Given the description of an element on the screen output the (x, y) to click on. 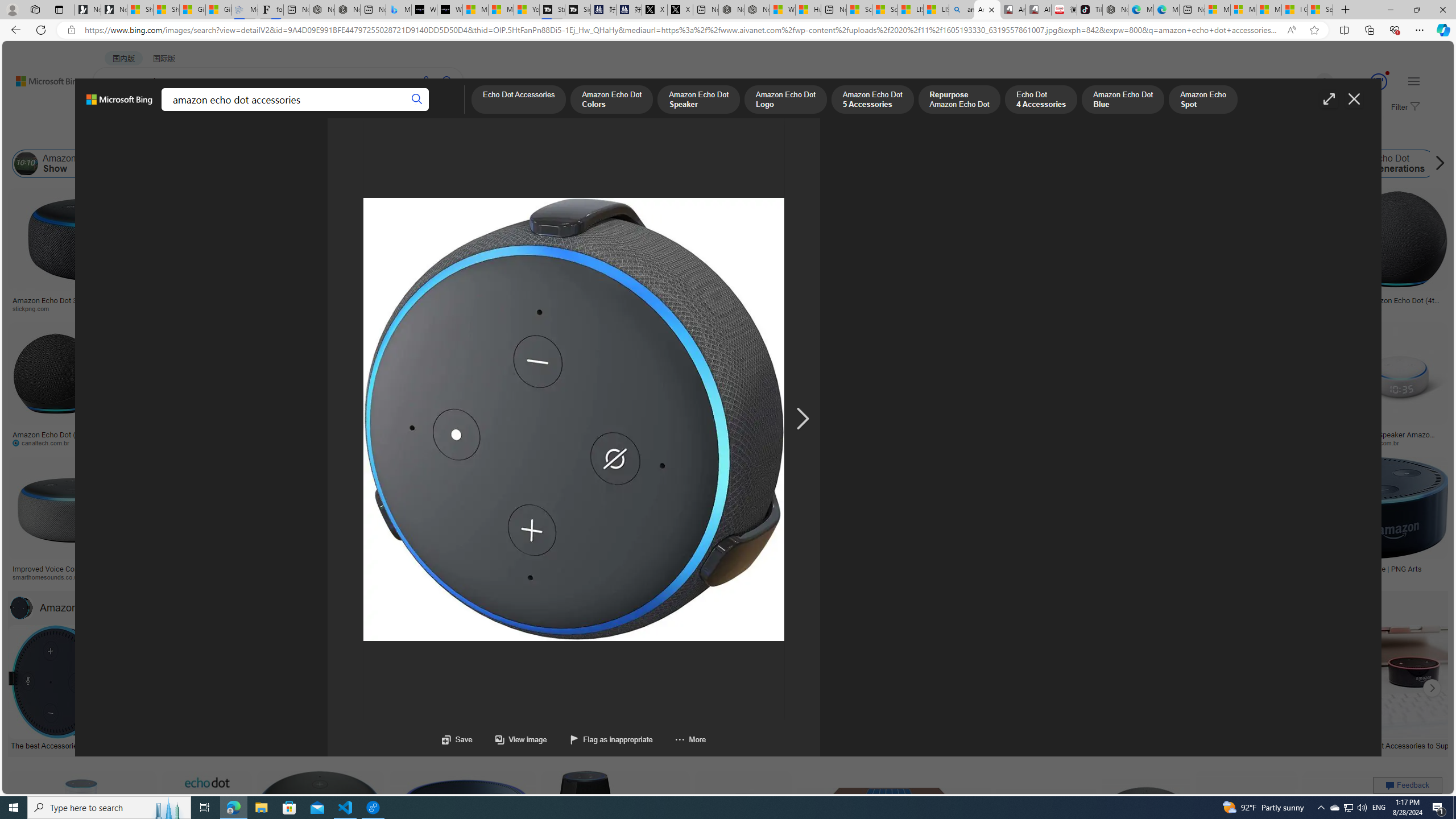
DICT (357, 111)
FrAndroid (455, 308)
MAPS (397, 111)
Amazon Echo Dot Logo (949, 163)
pricehistoryapp.com (287, 442)
canaltech.com.br (56, 442)
Amazonecho Dot With Alexa (Gen 4)pnghq.comSave (1205, 521)
energyearth.com (794, 576)
